Given the description of an element on the screen output the (x, y) to click on. 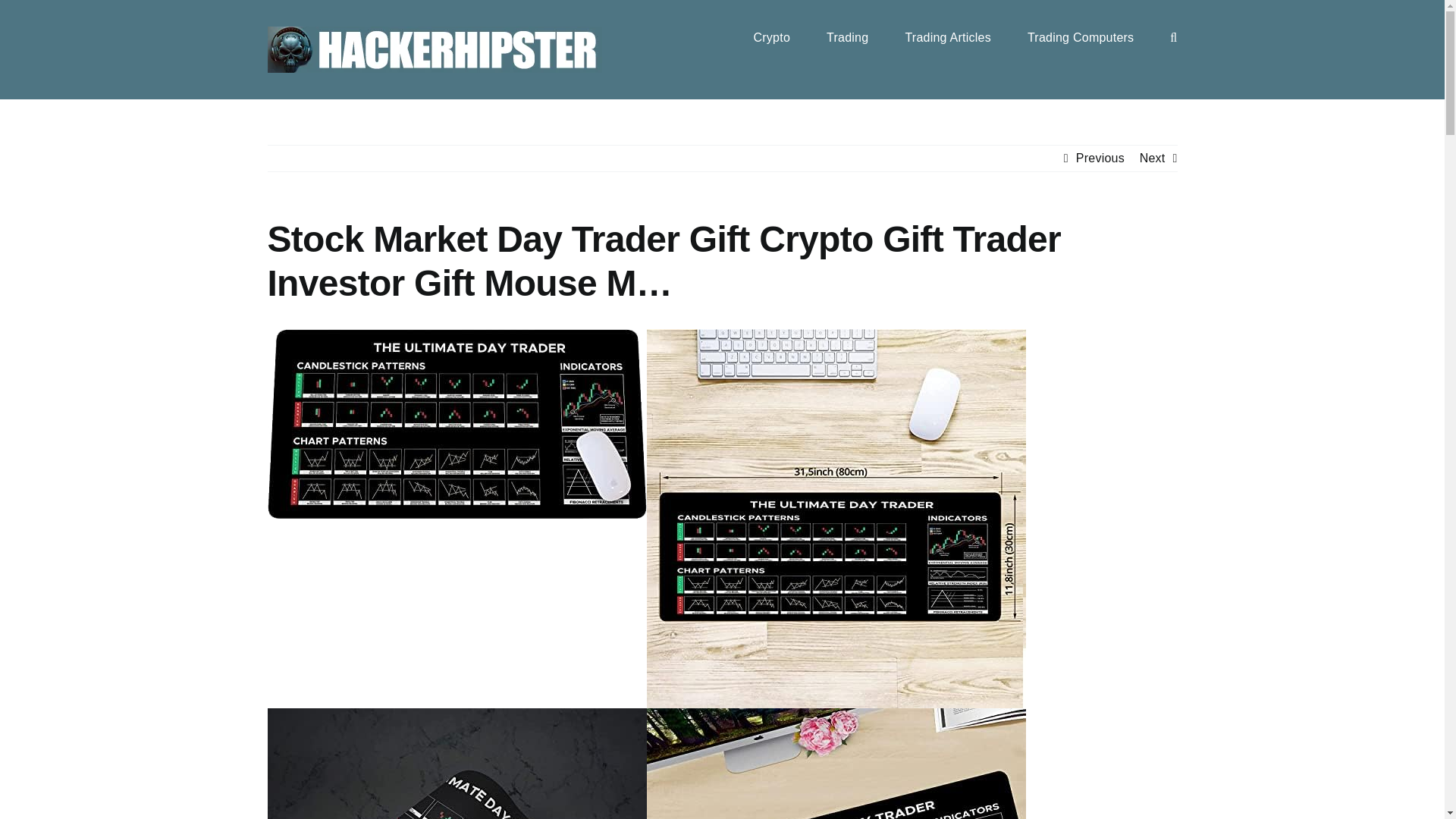
Previous (1099, 158)
Trading Articles (947, 36)
Trading Computers (1080, 36)
Next (1153, 158)
